Given the description of an element on the screen output the (x, y) to click on. 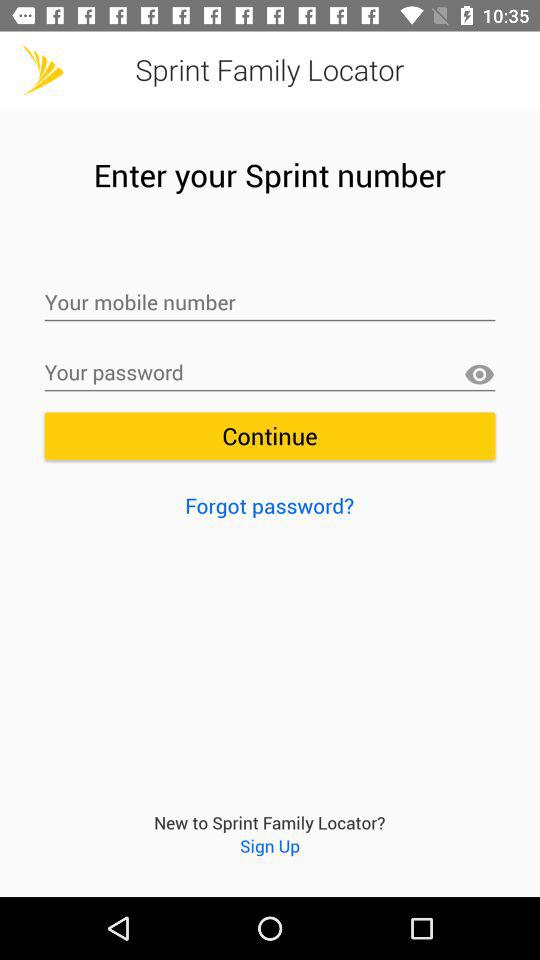
turn off the item above forgot password? (269, 435)
